Given the description of an element on the screen output the (x, y) to click on. 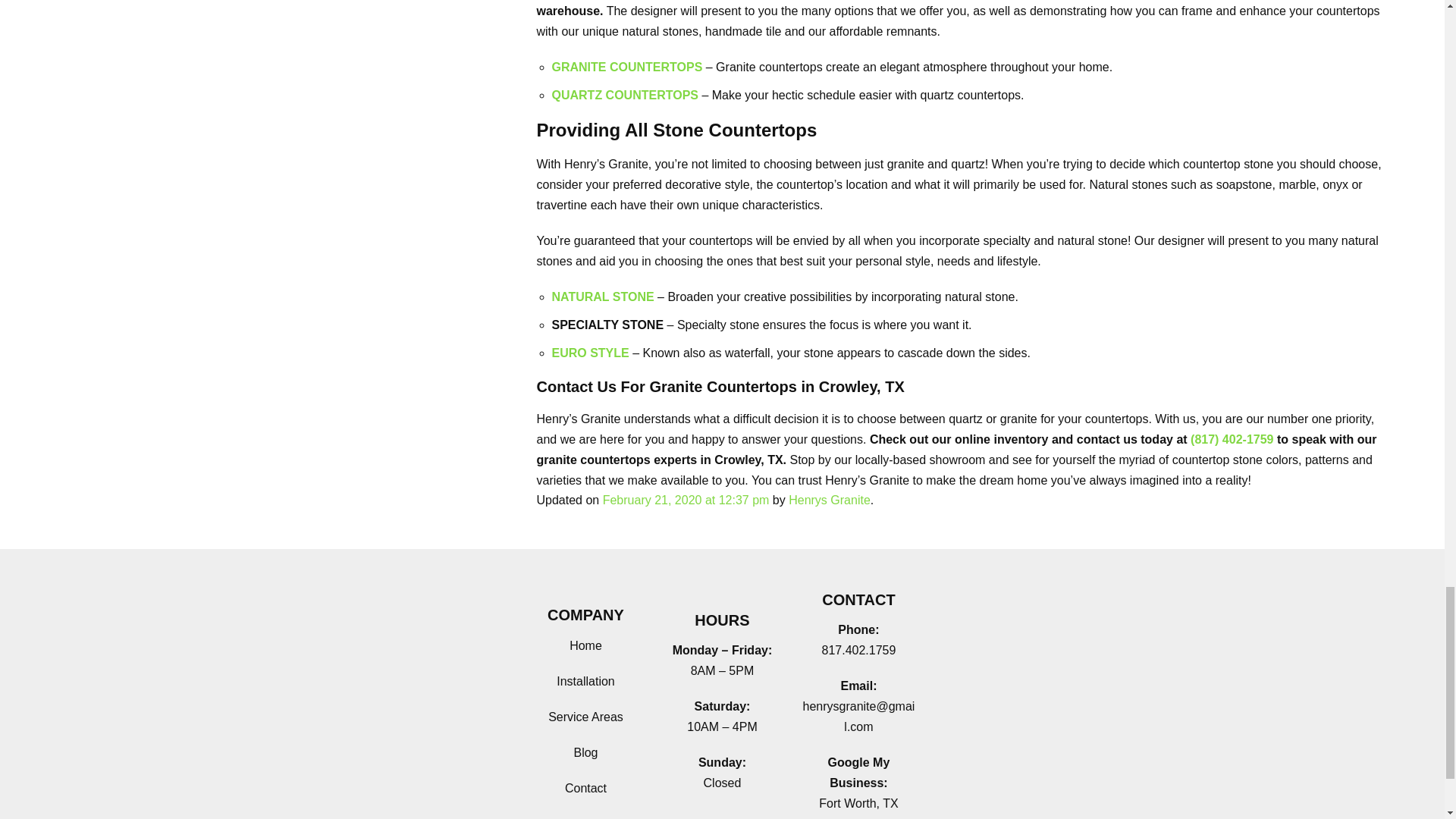
12:25 PM (686, 499)
View all posts by Henrys Granite (829, 499)
